Given the description of an element on the screen output the (x, y) to click on. 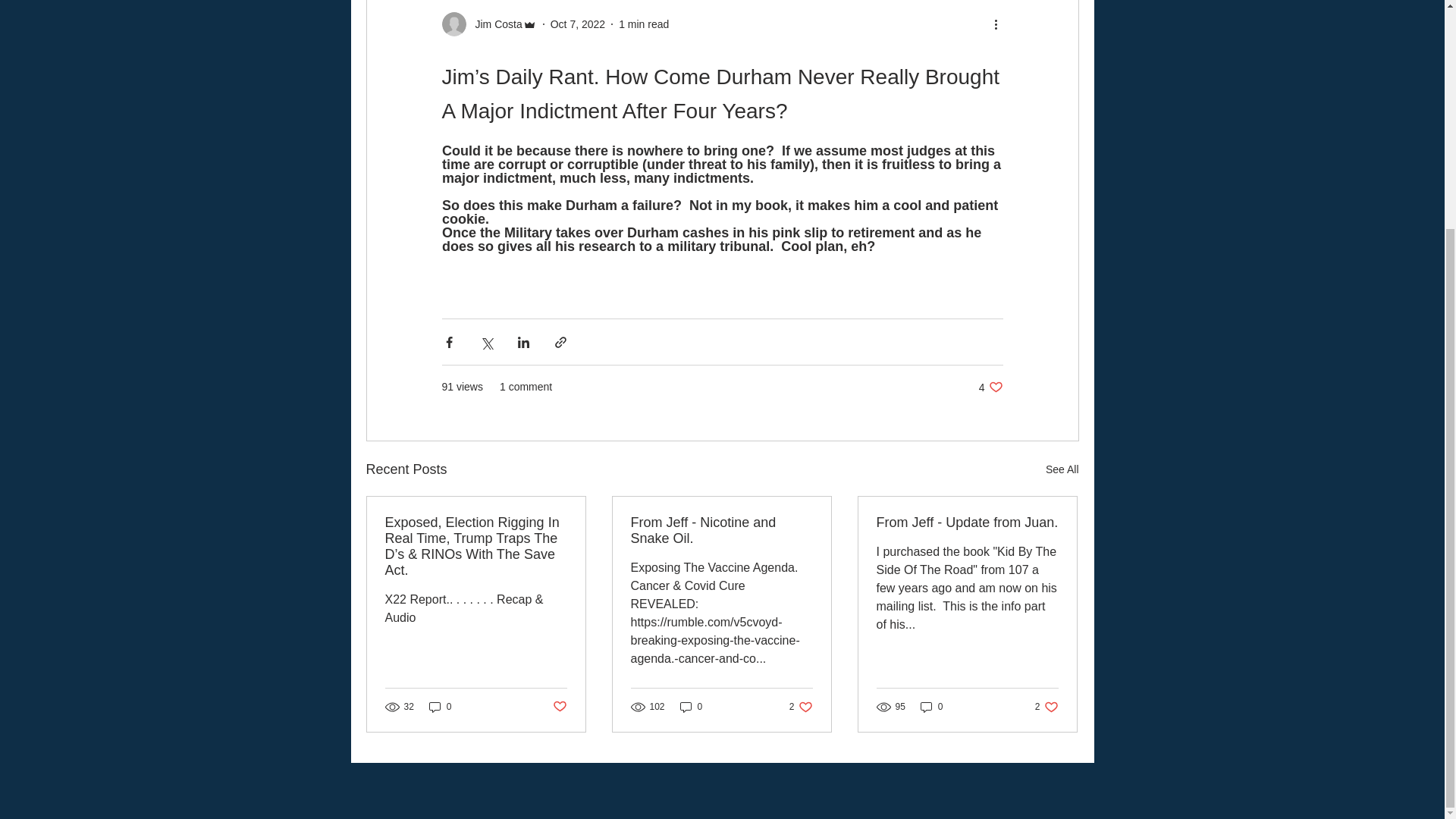
Oct 7, 2022 (577, 24)
From Jeff - Nicotine and Snake Oil. (721, 531)
From Jeff - Update from Juan. (967, 522)
See All (1061, 469)
0 (440, 706)
0 (691, 706)
Jim Costa (493, 24)
0 (800, 706)
1 min read (931, 706)
